Given the description of an element on the screen output the (x, y) to click on. 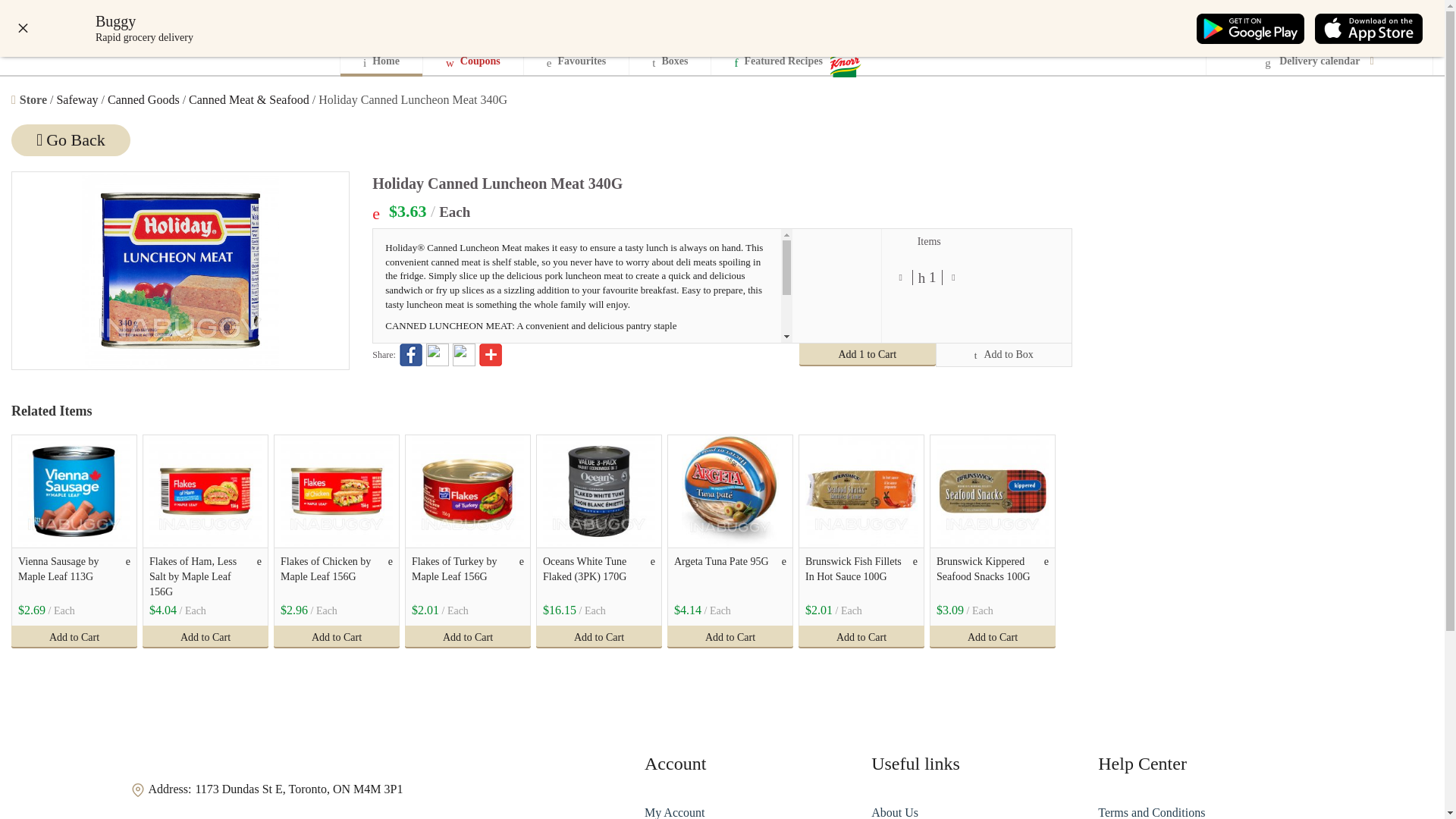
Flakes of Ham, Less Salt by Maple Leaf 156G (201, 576)
Brunswick Kippered Seafood Snacks 100G (989, 576)
Vienna Sausage by Maple Leaf 113G (70, 576)
Argeta Tuna Pate 95G (726, 576)
Flakes of Turkey by Maple Leaf 156G (468, 490)
Safeway (76, 99)
Flakes of Ham, Less Salt by Maple Leaf 156G (205, 490)
Flakes of Chicken by Maple Leaf 156G (333, 576)
Brunswick Fish Fillets In Hot Sauce 100G (861, 490)
Vienna Sausage by Maple Leaf 113G (74, 490)
